Given the description of an element on the screen output the (x, y) to click on. 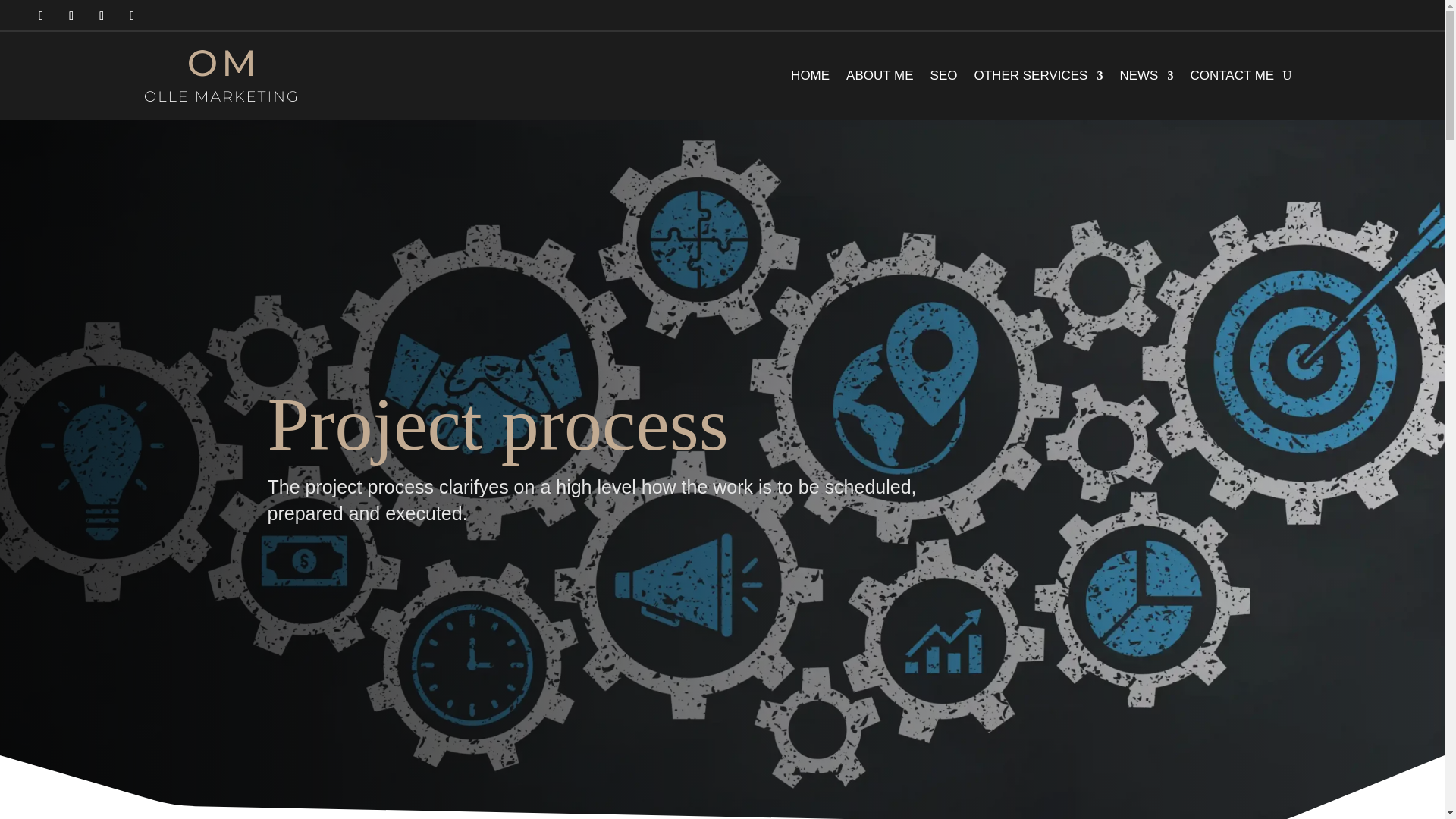
CONTACT ME (1231, 75)
Follow on Instagram (70, 15)
NEWS (1146, 75)
Follow on LinkedIn (131, 15)
Follow on X (100, 15)
ABOUT ME (878, 75)
Follow on Facebook (40, 15)
OTHER SERVICES (1038, 75)
